Given the description of an element on the screen output the (x, y) to click on. 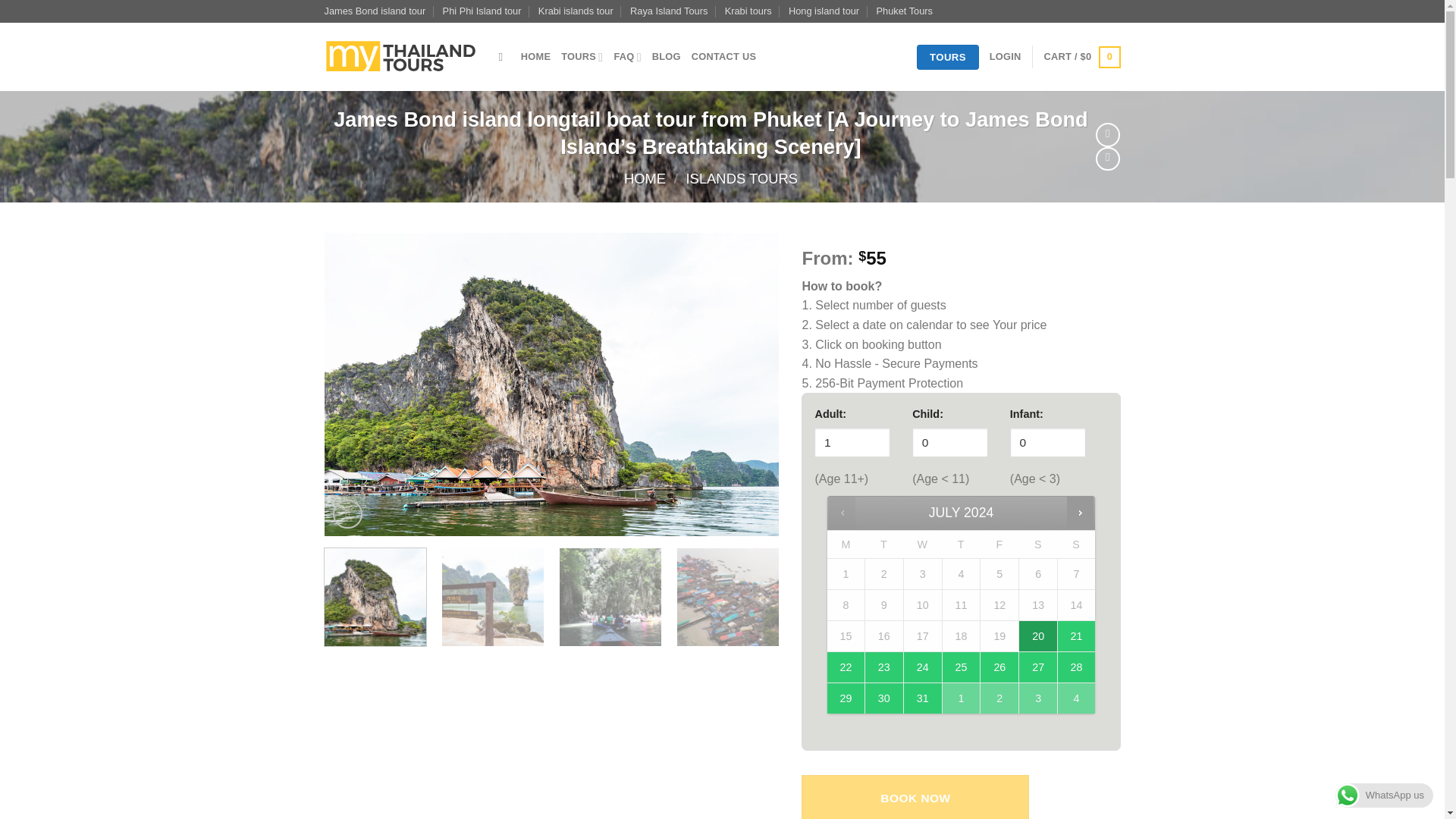
1 (851, 442)
0 (950, 442)
TOURS (947, 57)
TOURS (581, 56)
Raya Island Tours (668, 11)
Krabi tours (748, 11)
Krabi islands tour (575, 11)
BLOG (666, 56)
Cart (1082, 57)
HOME (535, 56)
Monday (845, 544)
FAQ (626, 56)
James Bond island tour (375, 11)
Zoom (347, 514)
